Given the description of an element on the screen output the (x, y) to click on. 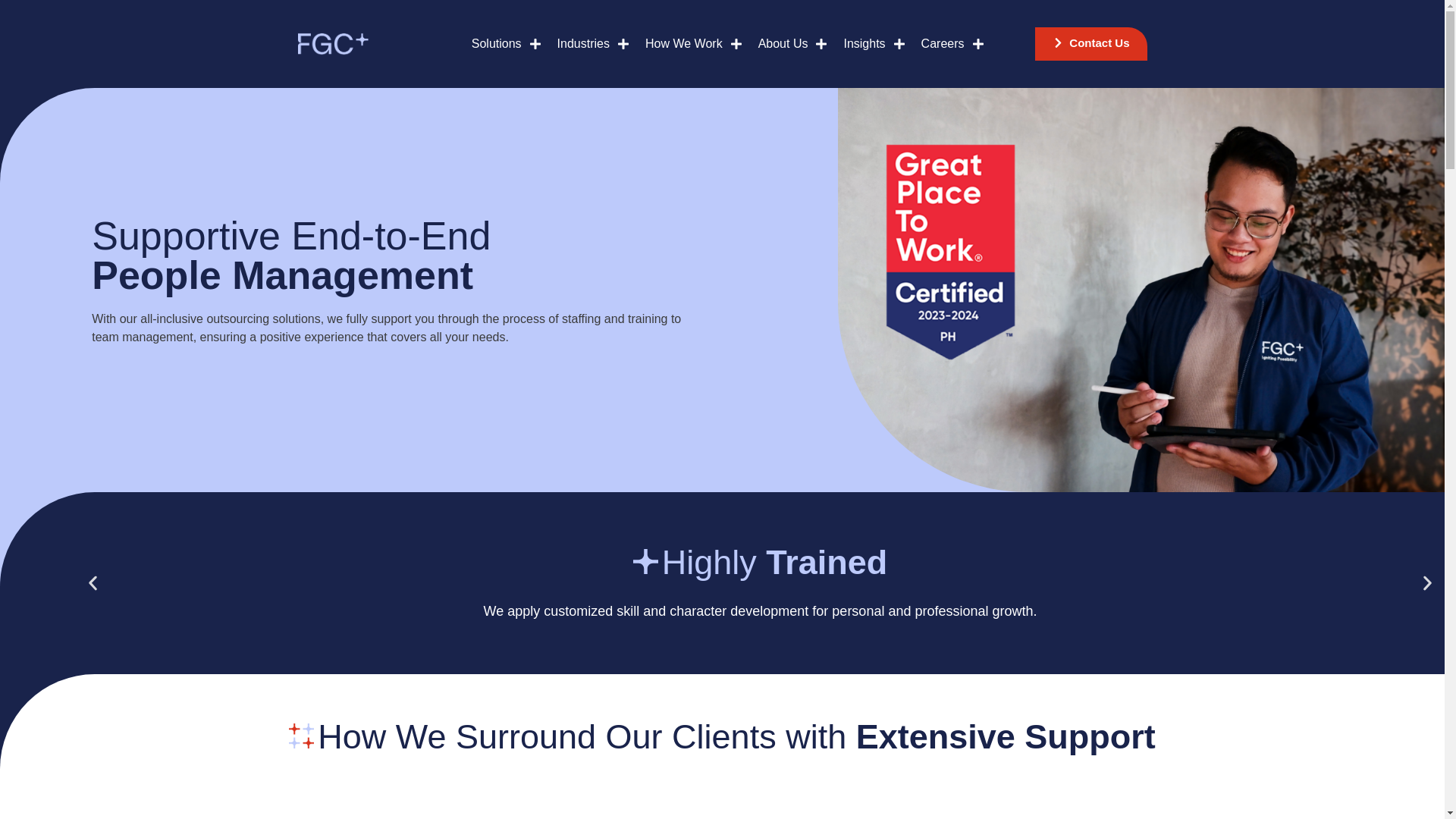
Careers (952, 43)
Insights (874, 43)
Industries (592, 43)
About Us (792, 43)
Solutions (506, 43)
How We Work (694, 43)
